Given the description of an element on the screen output the (x, y) to click on. 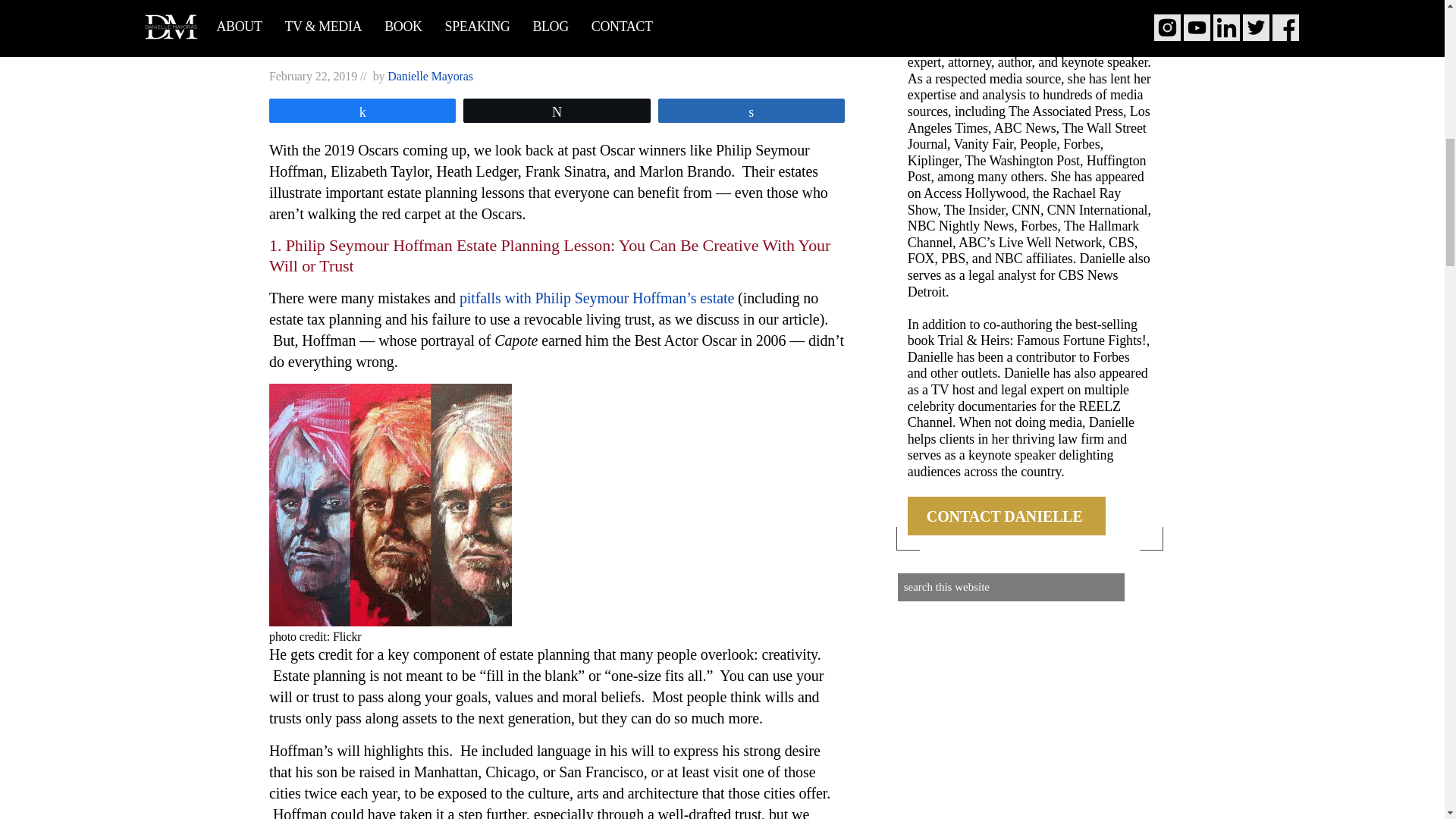
Danielle Mayoras (430, 75)
